Given the description of an element on the screen output the (x, y) to click on. 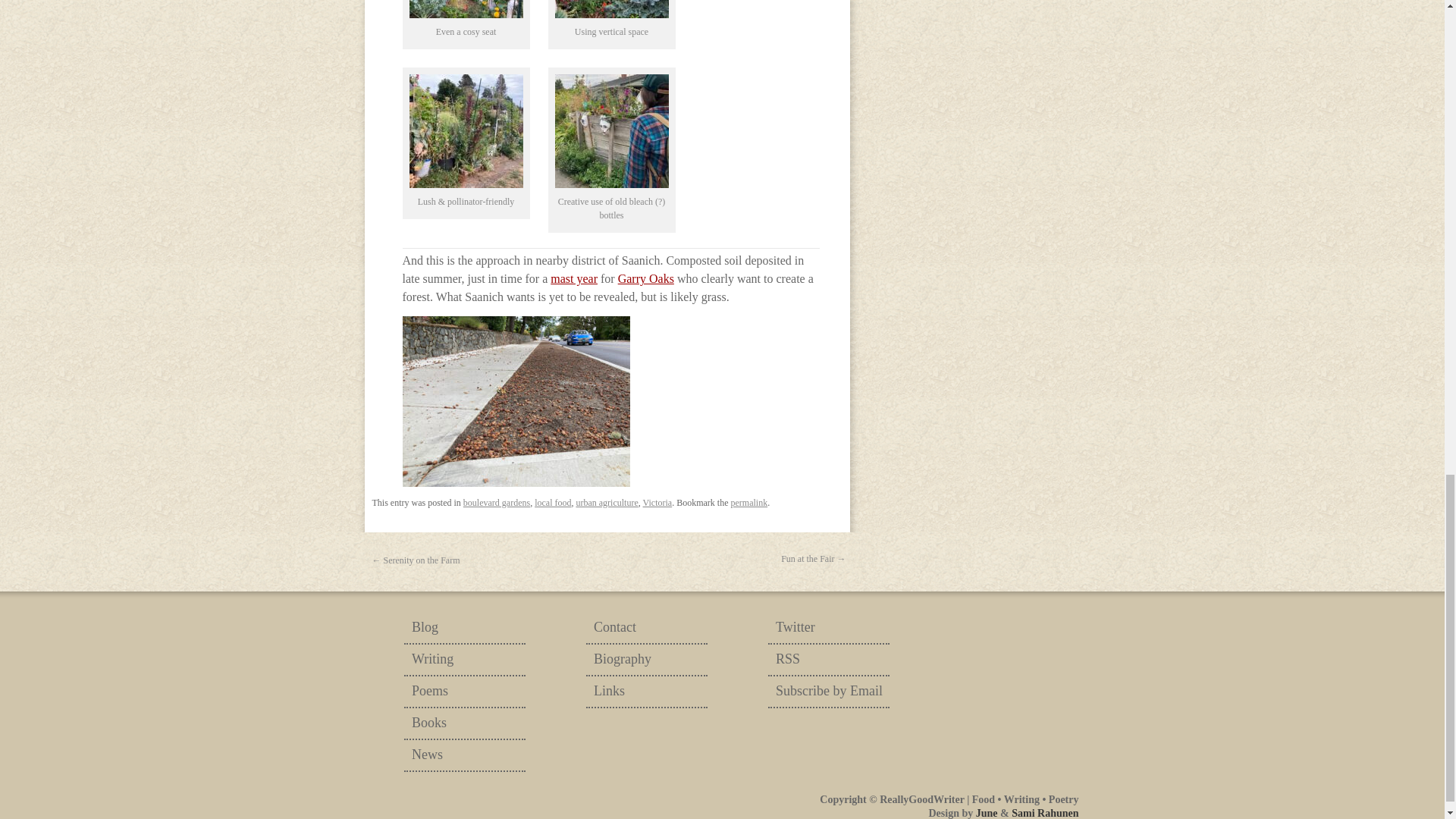
local food (552, 502)
mast year (573, 278)
permalink (749, 502)
Garry Oaks (645, 278)
boulevard gardens (496, 502)
urban agriculture (606, 502)
Victoria (657, 502)
Permalink to Boulevard Gardens (749, 502)
